Given the description of an element on the screen output the (x, y) to click on. 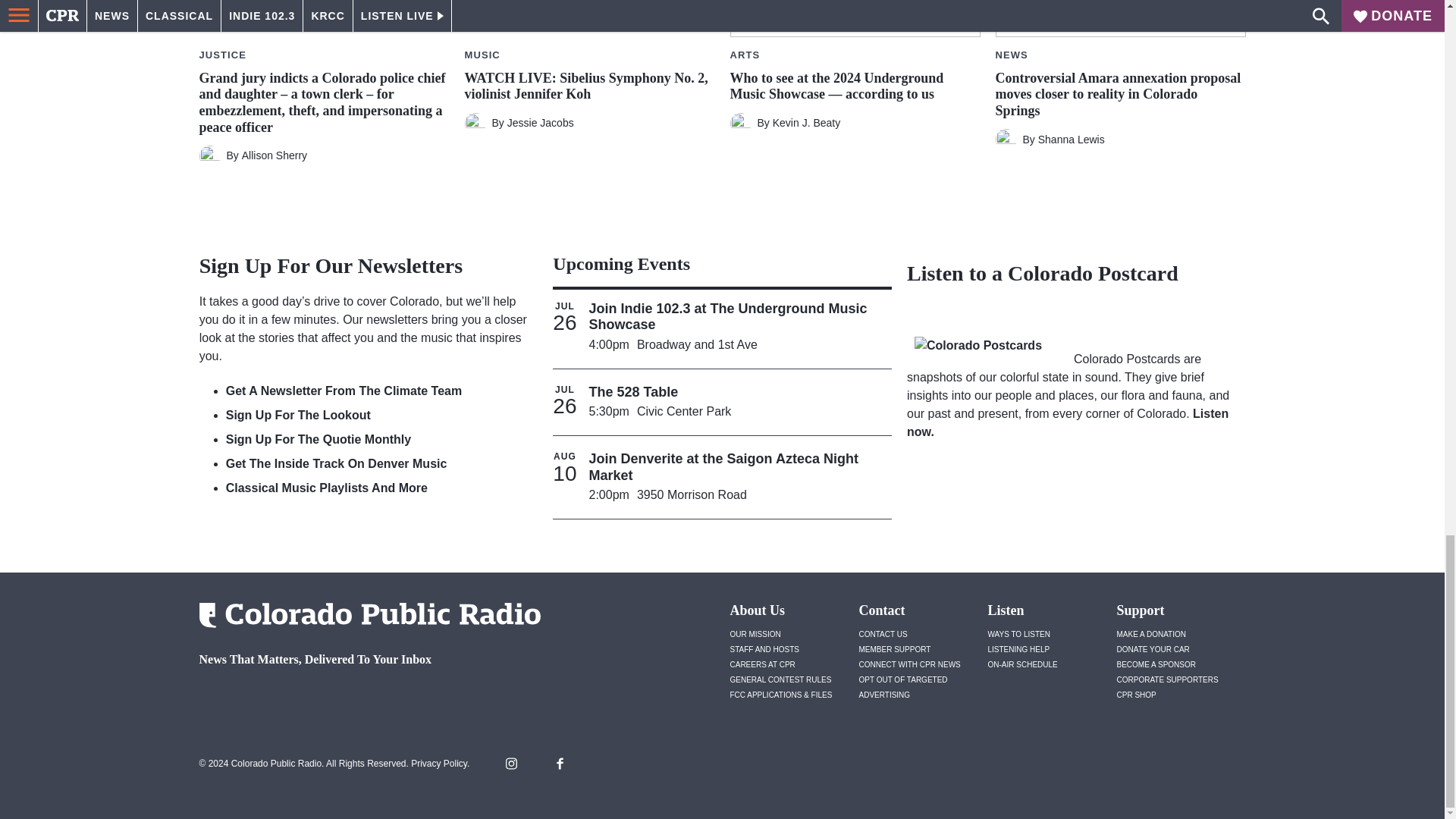
footer (364, 699)
